Given the description of an element on the screen output the (x, y) to click on. 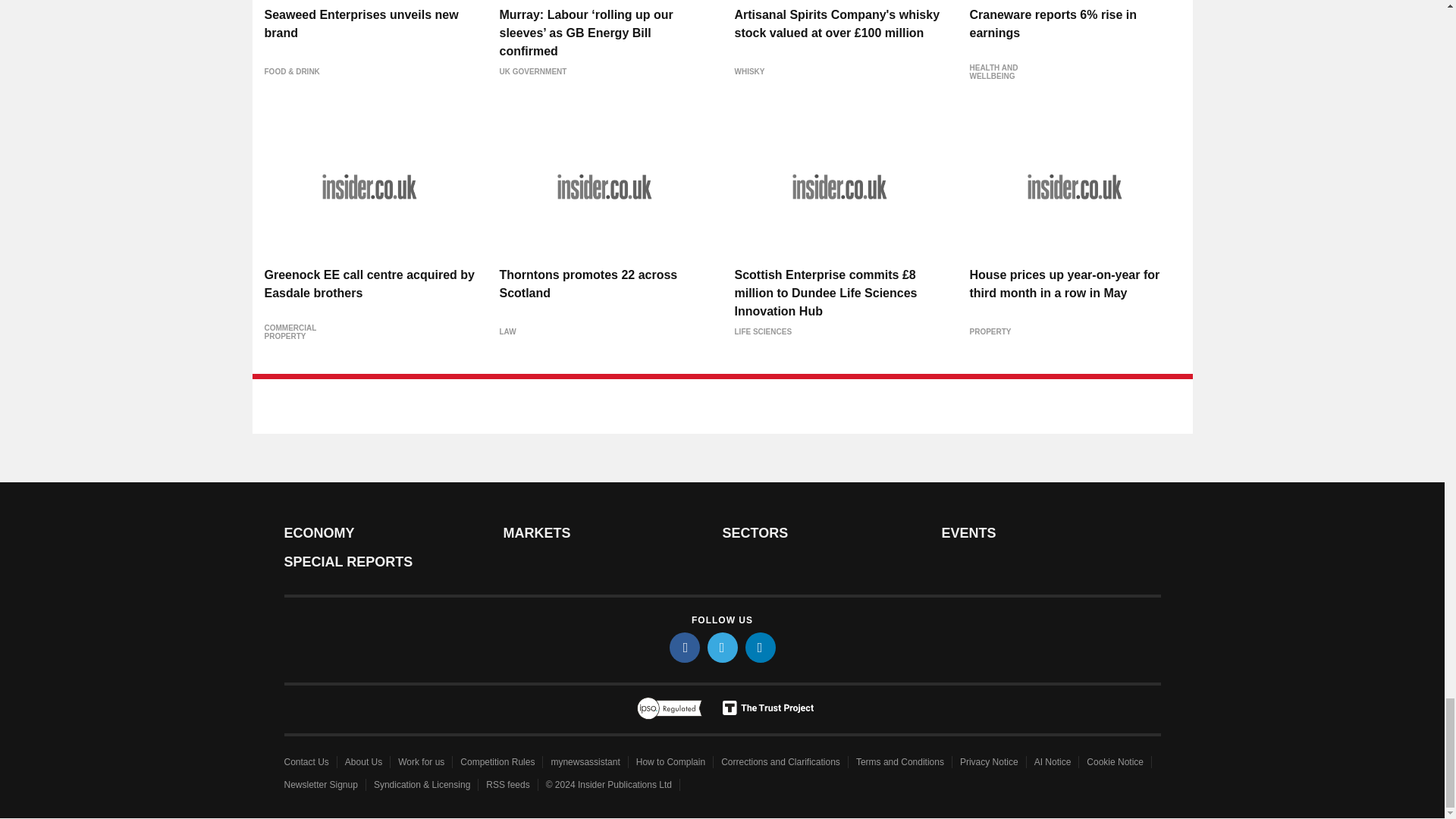
facebook (683, 647)
twitter (721, 647)
linkedin (759, 647)
